Given the description of an element on the screen output the (x, y) to click on. 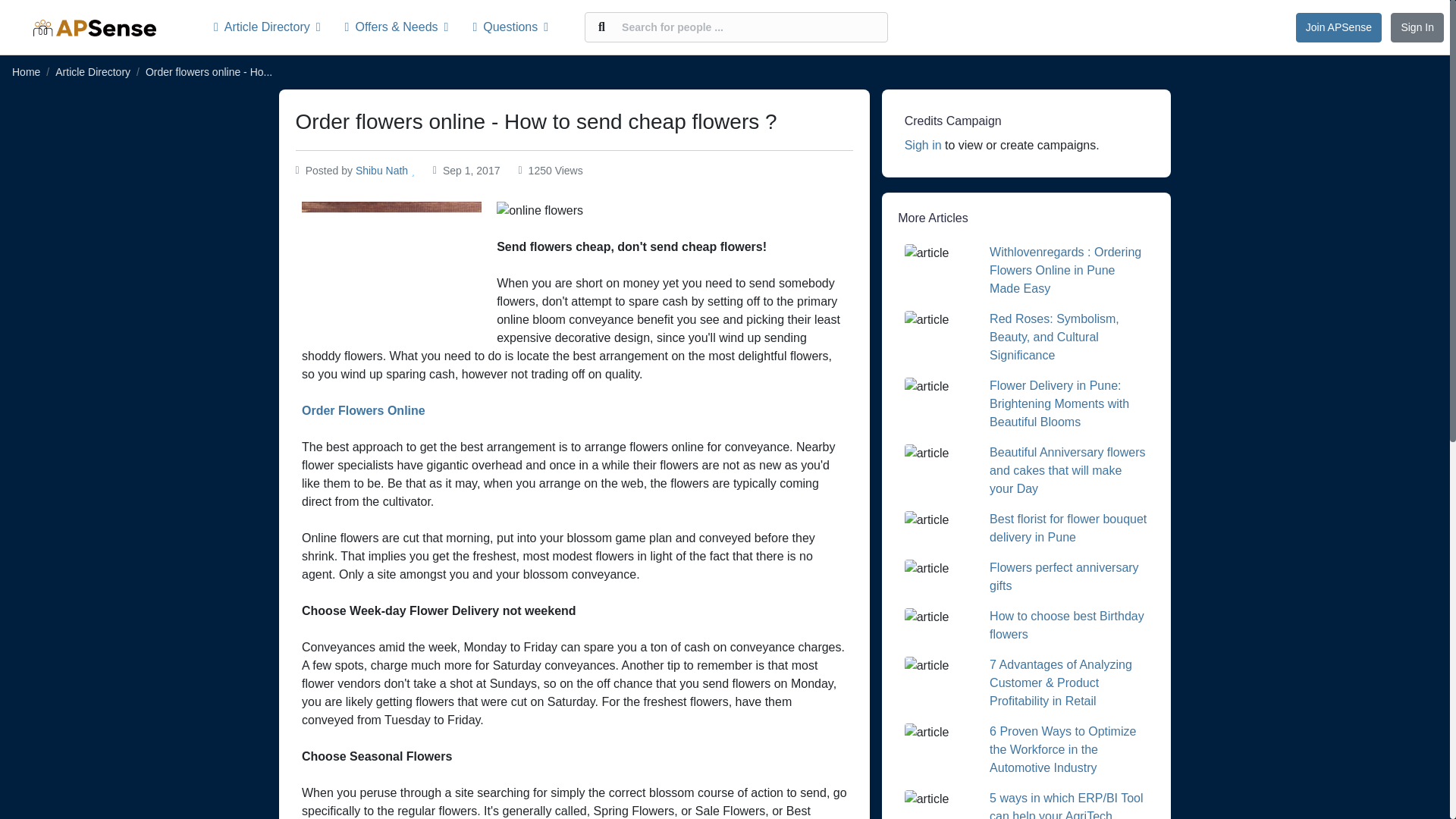
Home (25, 71)
Questions (510, 27)
Join APSense (1338, 27)
Article Directory (93, 71)
order flowers online (364, 410)
Order Flowers Online  (364, 410)
Article Directory (273, 27)
Red Roses: Symbolism, Beauty, and Cultural Significance (1054, 336)
Best florist for flower bouquet delivery in Pune (1068, 527)
